Given the description of an element on the screen output the (x, y) to click on. 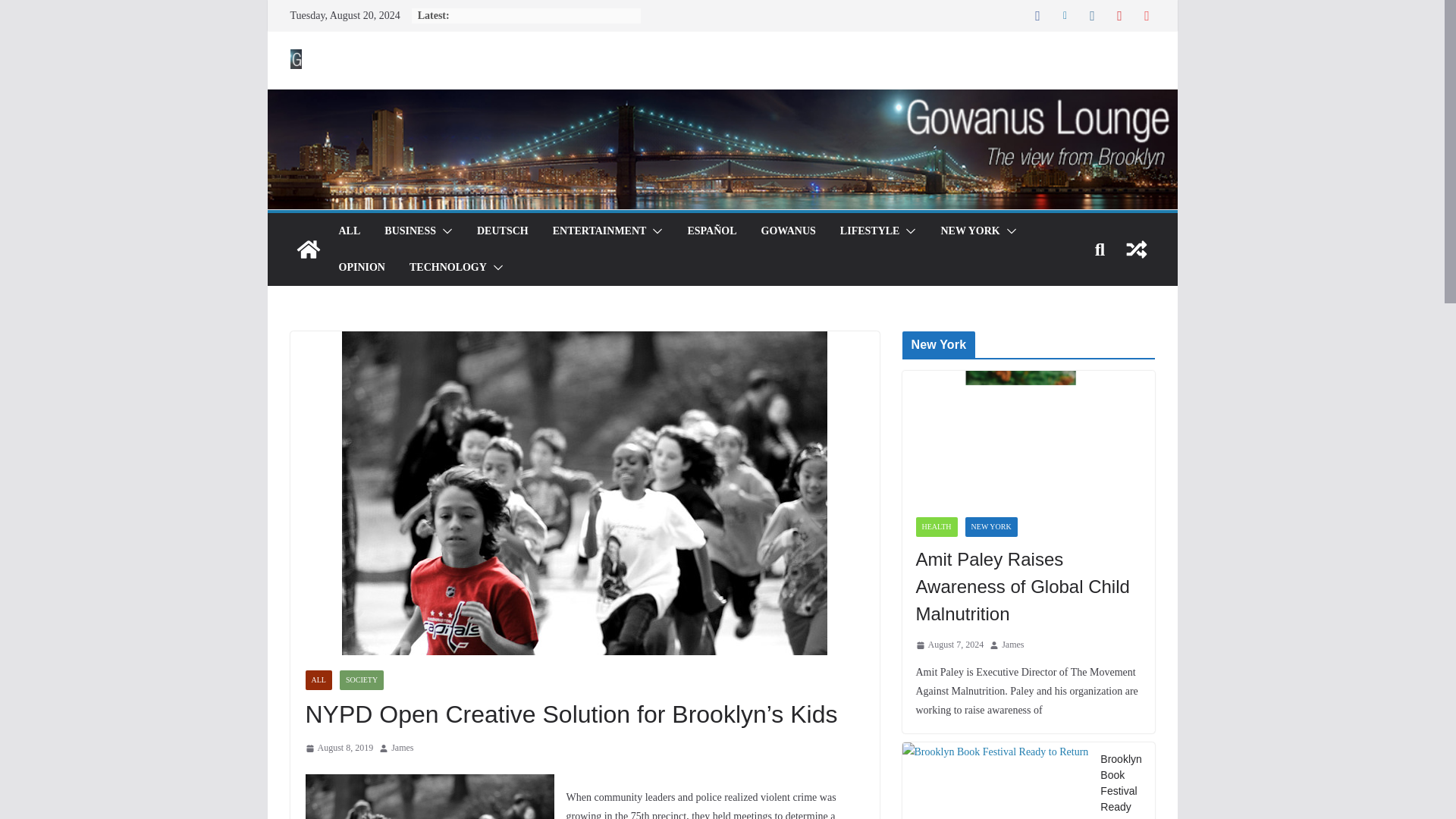
SOCIETY (361, 680)
5:00 am (949, 645)
August 8, 2019 (338, 748)
LIFESTYLE (869, 230)
5:46 am (338, 748)
GOWANUS (788, 230)
ENTERTAINMENT (599, 230)
TECHNOLOGY (447, 267)
View a random post (1136, 248)
Amit Paley Raises Awareness of Global Child Malnutrition (1028, 587)
